Given the description of an element on the screen output the (x, y) to click on. 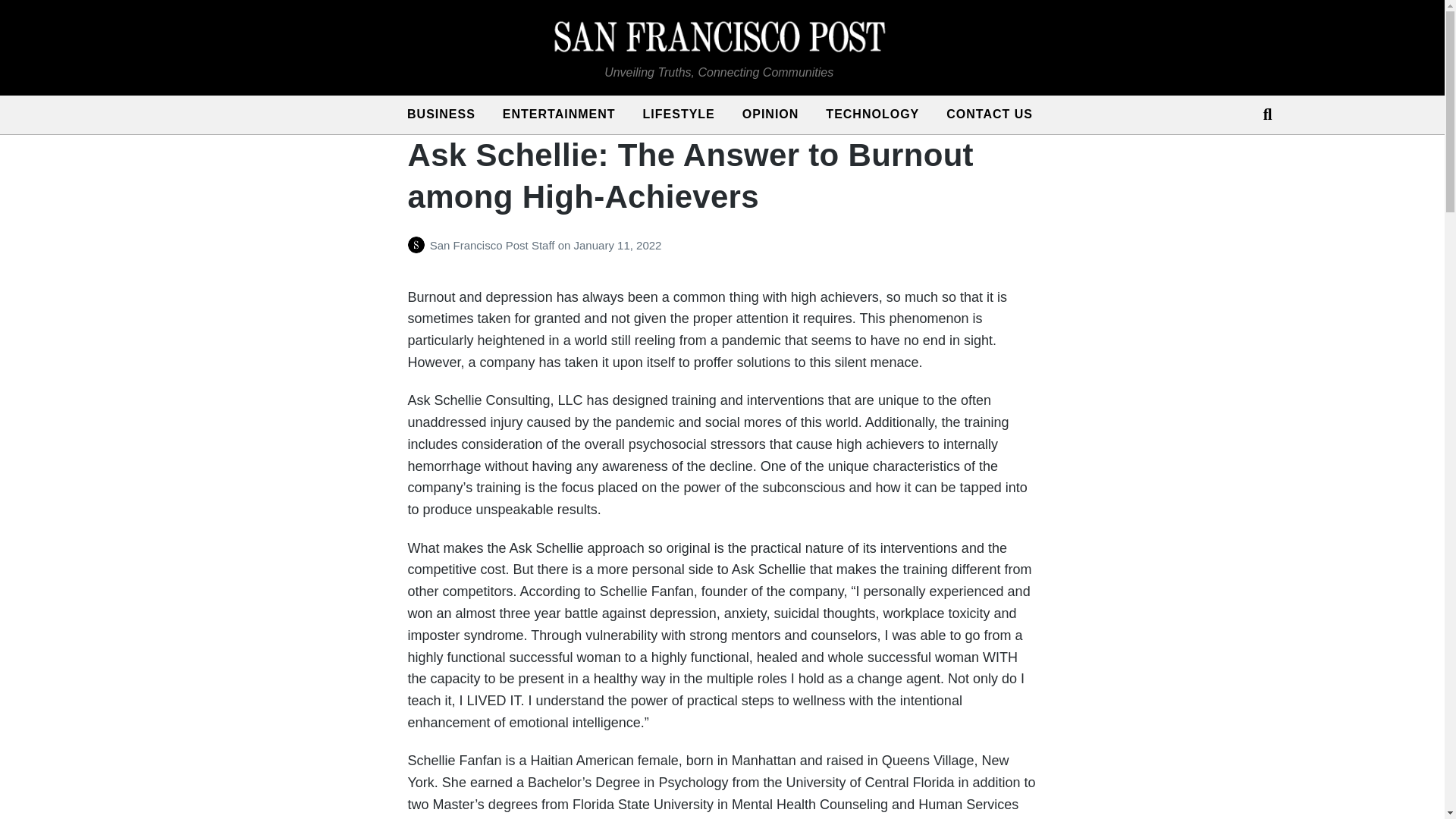
Ask Schellie: The Answer to Burnout among High-Achievers (690, 175)
CONTACT US (989, 114)
OPINION (770, 114)
Posts by San Francisco Post Staff (418, 245)
ENTERTAINMENT (558, 114)
TECHNOLOGY (872, 114)
San Francisco Post Staff (493, 245)
Search (1259, 114)
LIFESTYLE (678, 114)
BUSINESS (441, 114)
